Given the description of an element on the screen output the (x, y) to click on. 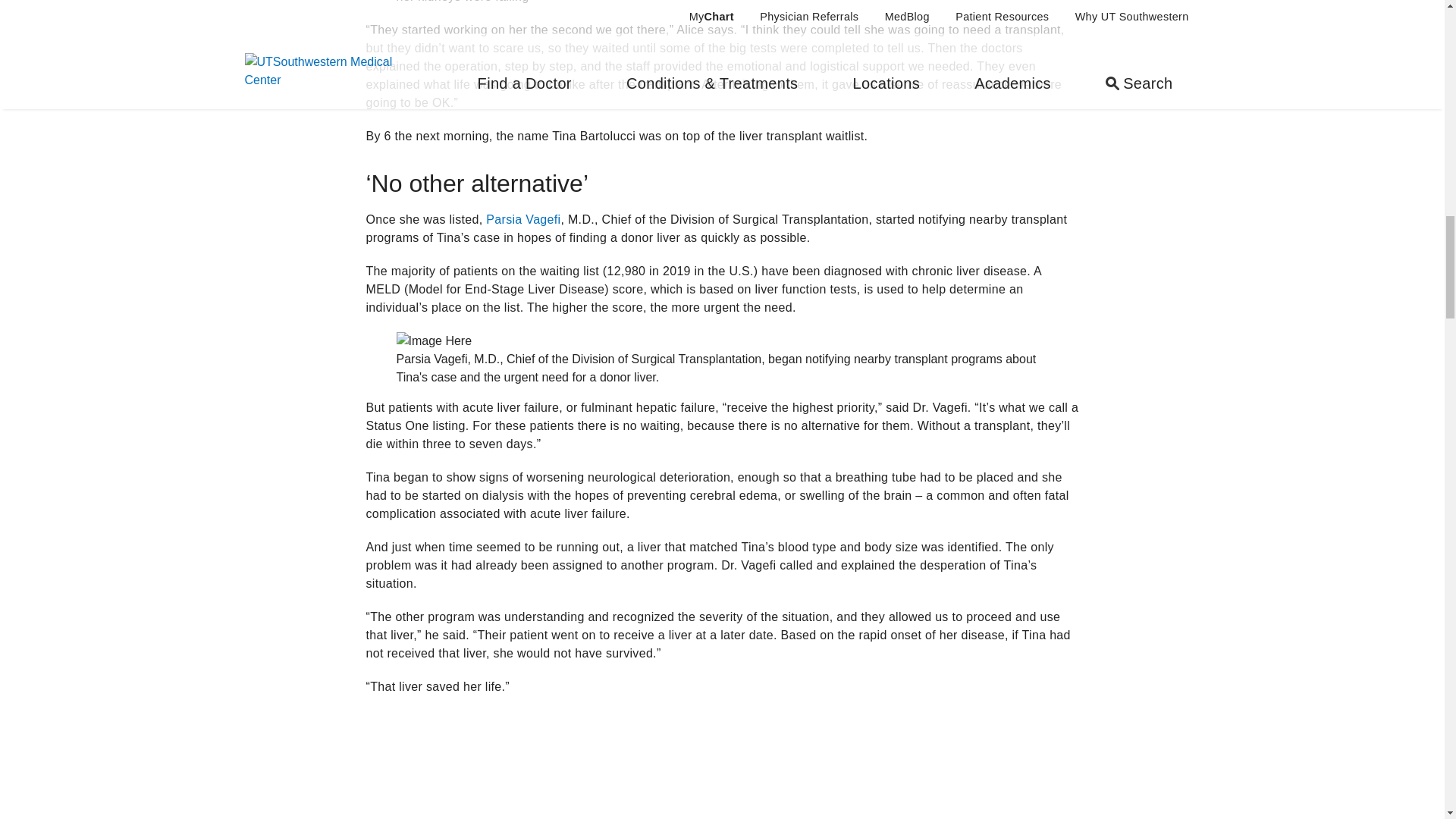
Parsia Vagefi (523, 219)
Did You Know a Single Donor Can Save Eight Lives? (638, 765)
